Given the description of an element on the screen output the (x, y) to click on. 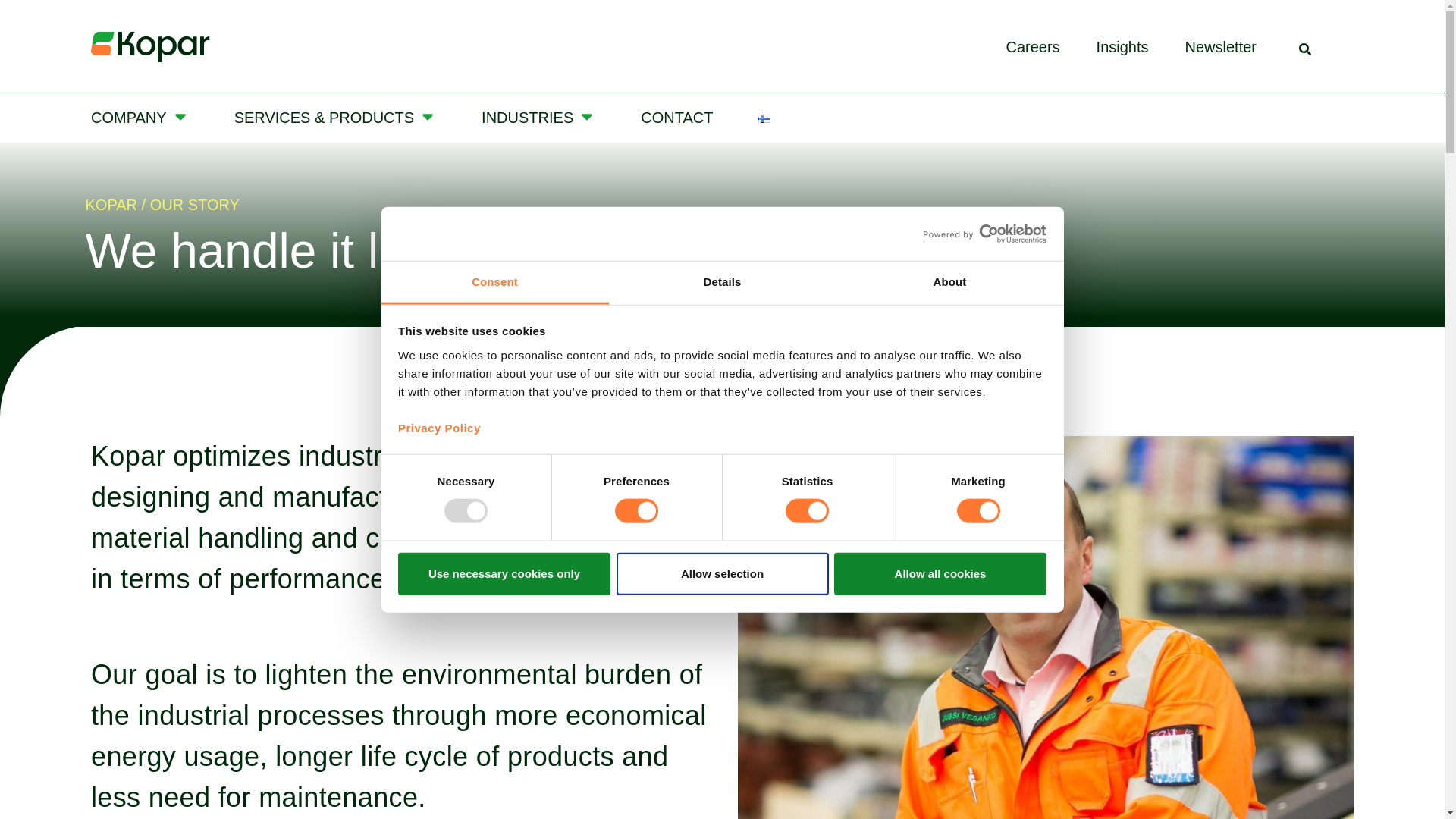
About (948, 282)
Privacy Policy (438, 427)
Consent (494, 282)
Details (721, 282)
Privacy Policy (438, 427)
